Given the description of an element on the screen output the (x, y) to click on. 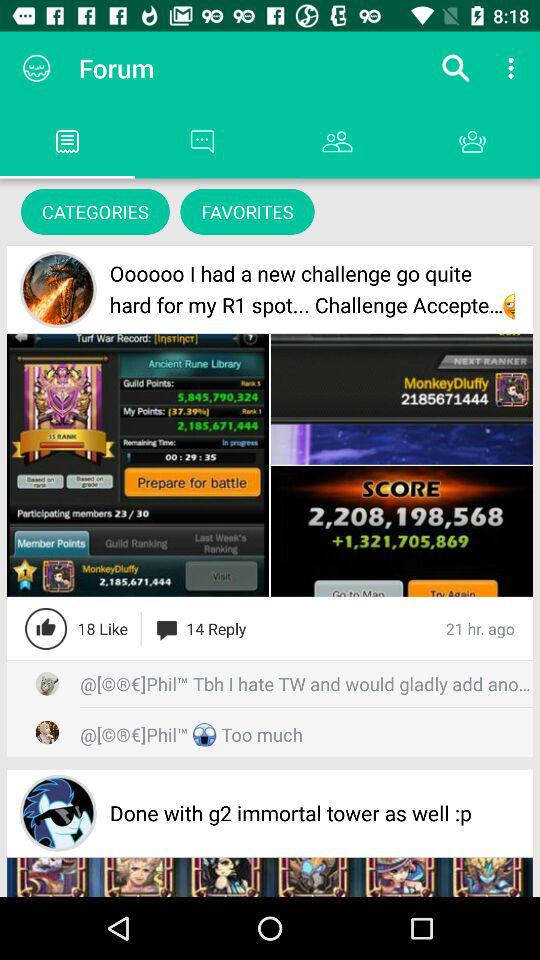
select icon next to the categories (247, 211)
